Given the description of an element on the screen output the (x, y) to click on. 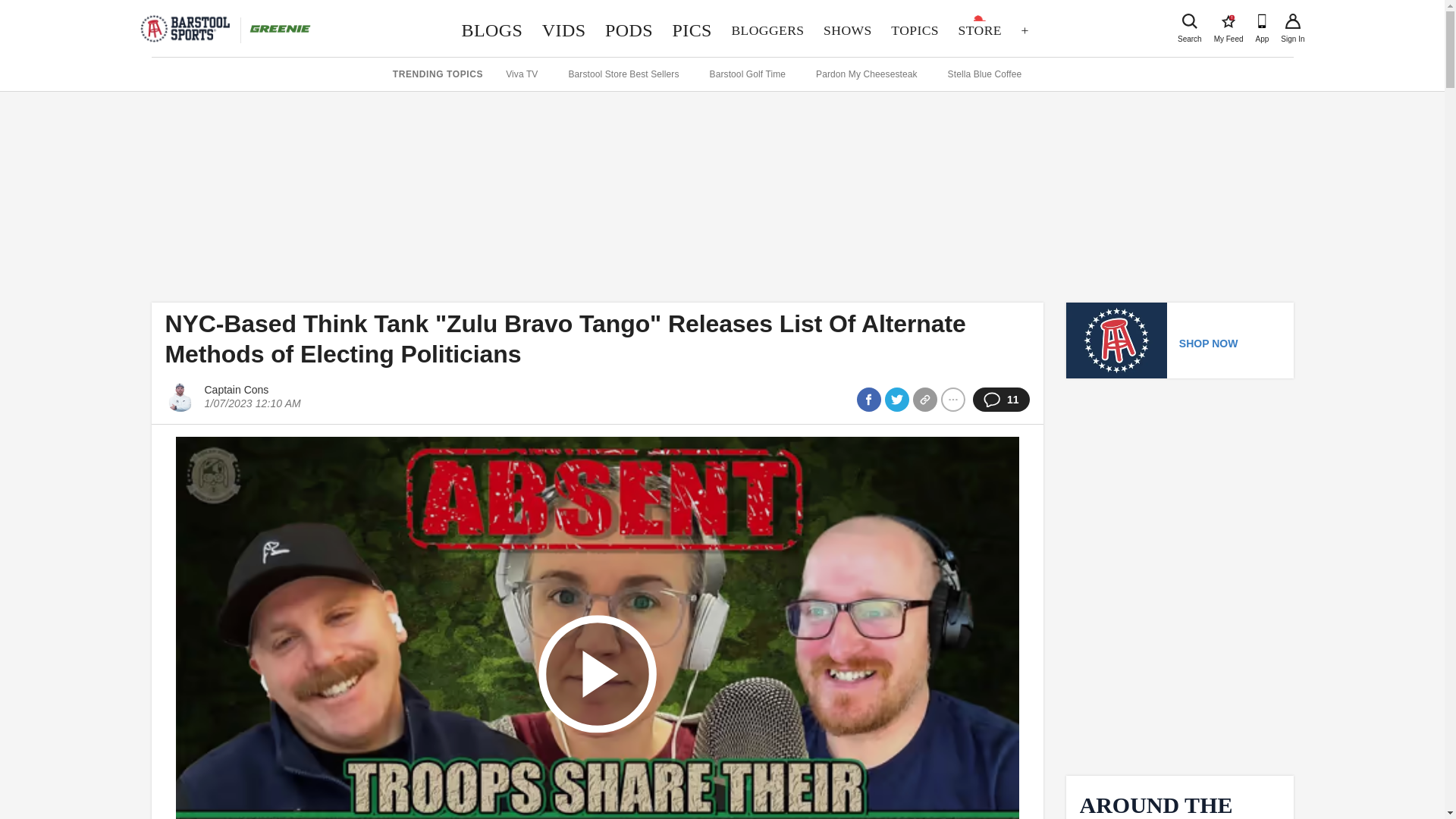
PICS (692, 30)
SHOWS (846, 30)
TOPICS (913, 30)
Sign Up (1292, 20)
BLOGS (491, 30)
BLOGGERS (767, 30)
VIDS (563, 30)
Search (1189, 20)
PODS (1228, 20)
